Given the description of an element on the screen output the (x, y) to click on. 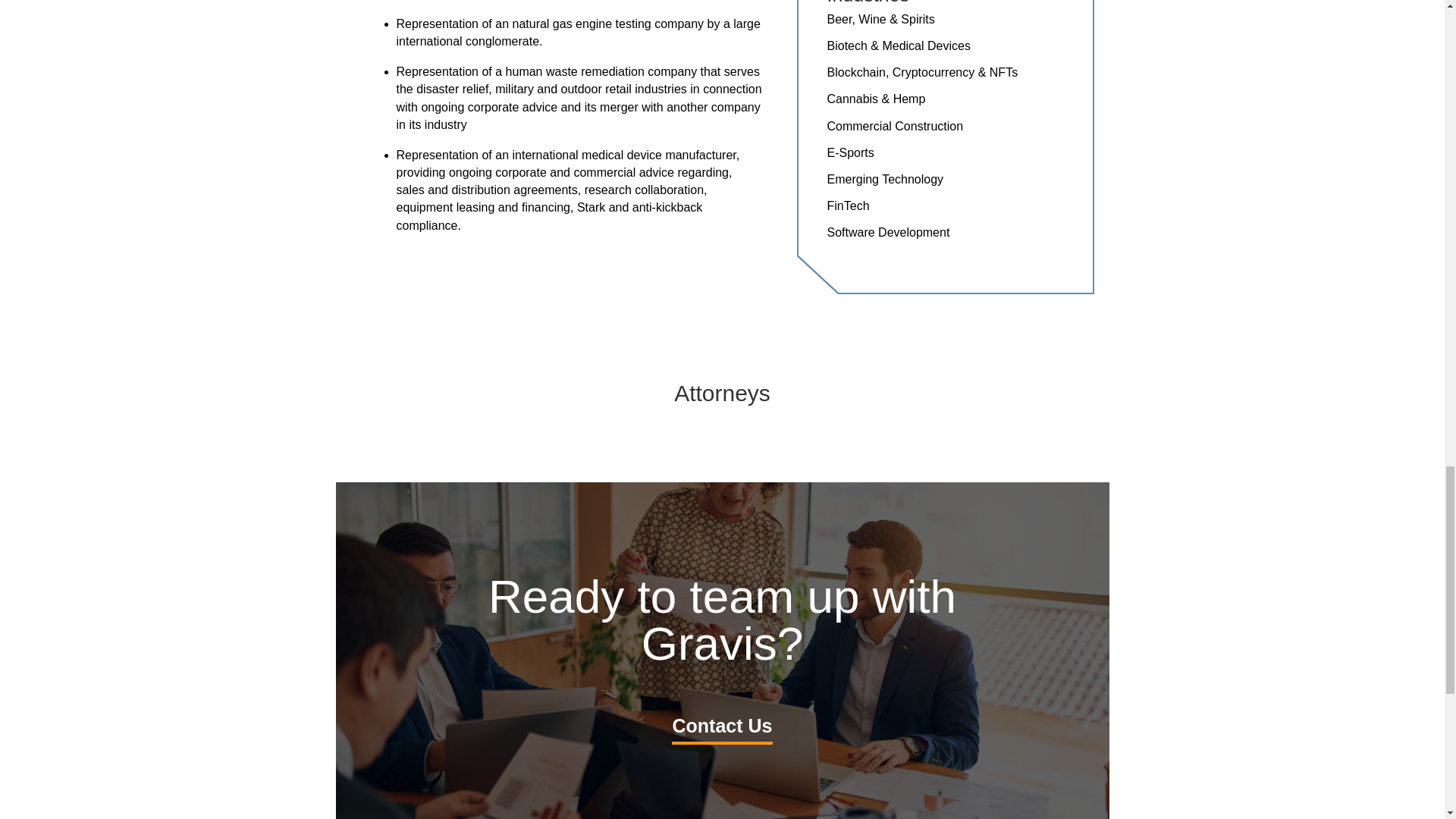
Emerging Technology (885, 178)
Software Development (888, 232)
FinTech (848, 205)
Contact Us (722, 727)
Commercial Construction (894, 125)
E-Sports (850, 152)
